Given the description of an element on the screen output the (x, y) to click on. 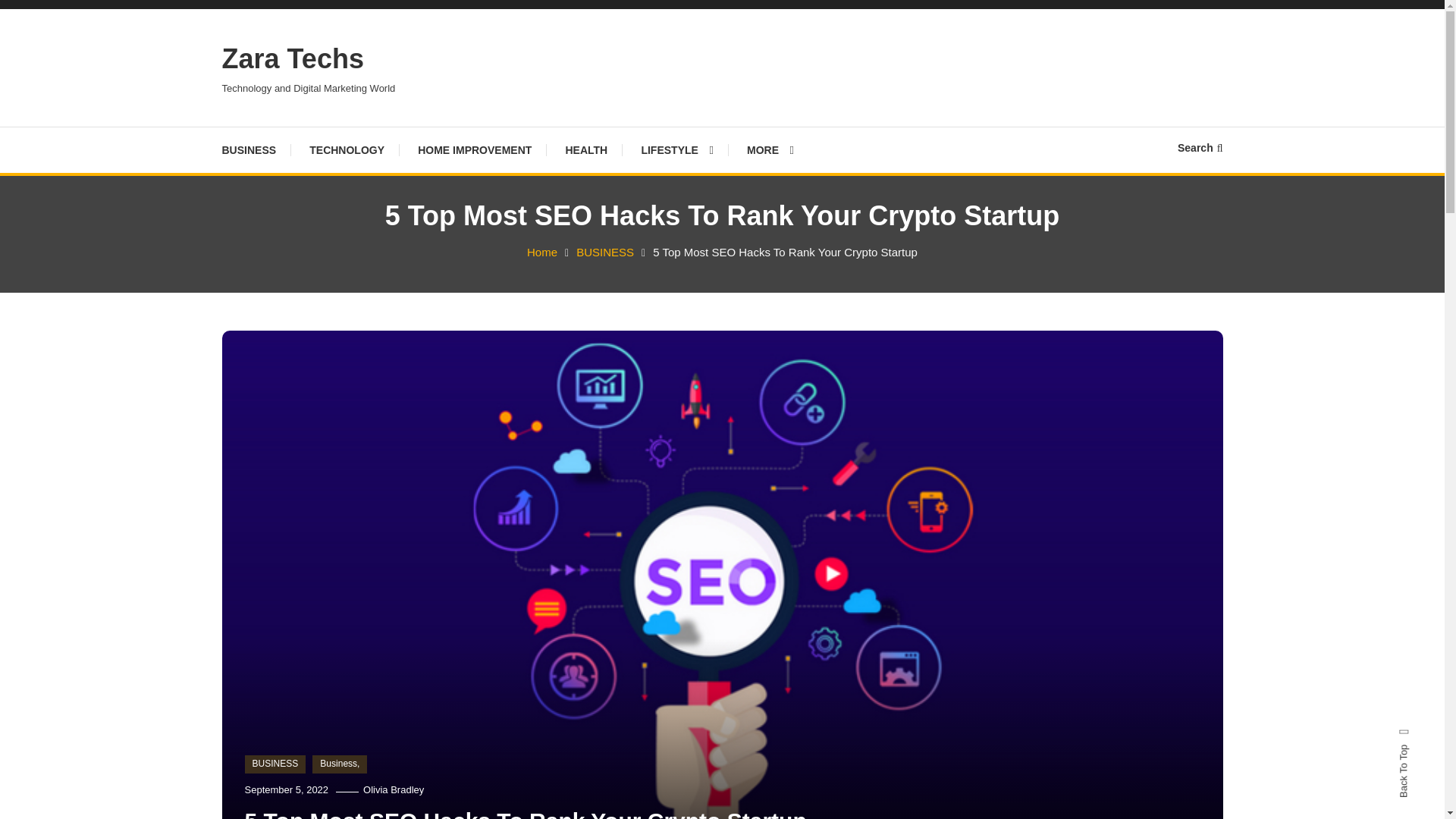
5 Top Most SEO Hacks To Rank Your Crypto Startup (525, 813)
Search (1200, 147)
Home (542, 251)
LIFESTYLE (677, 149)
Search (768, 432)
BUSINESS (256, 149)
HEALTH (586, 149)
Zara Techs (291, 58)
Olivia Bradley (392, 789)
Business, (339, 764)
